Given the description of an element on the screen output the (x, y) to click on. 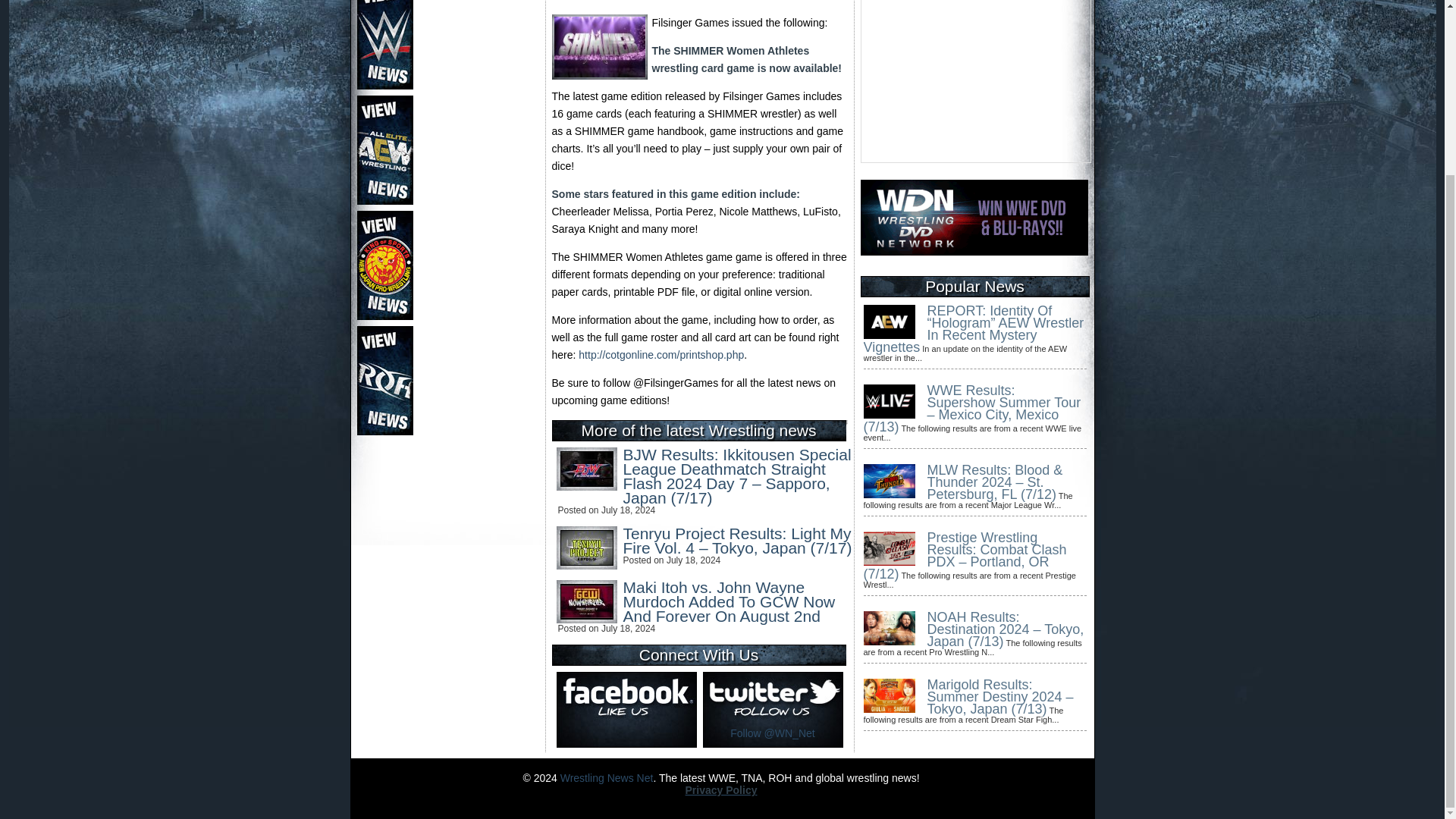
The latest WWE, TNA, ROH, and global wrestling news! (606, 777)
